Given the description of an element on the screen output the (x, y) to click on. 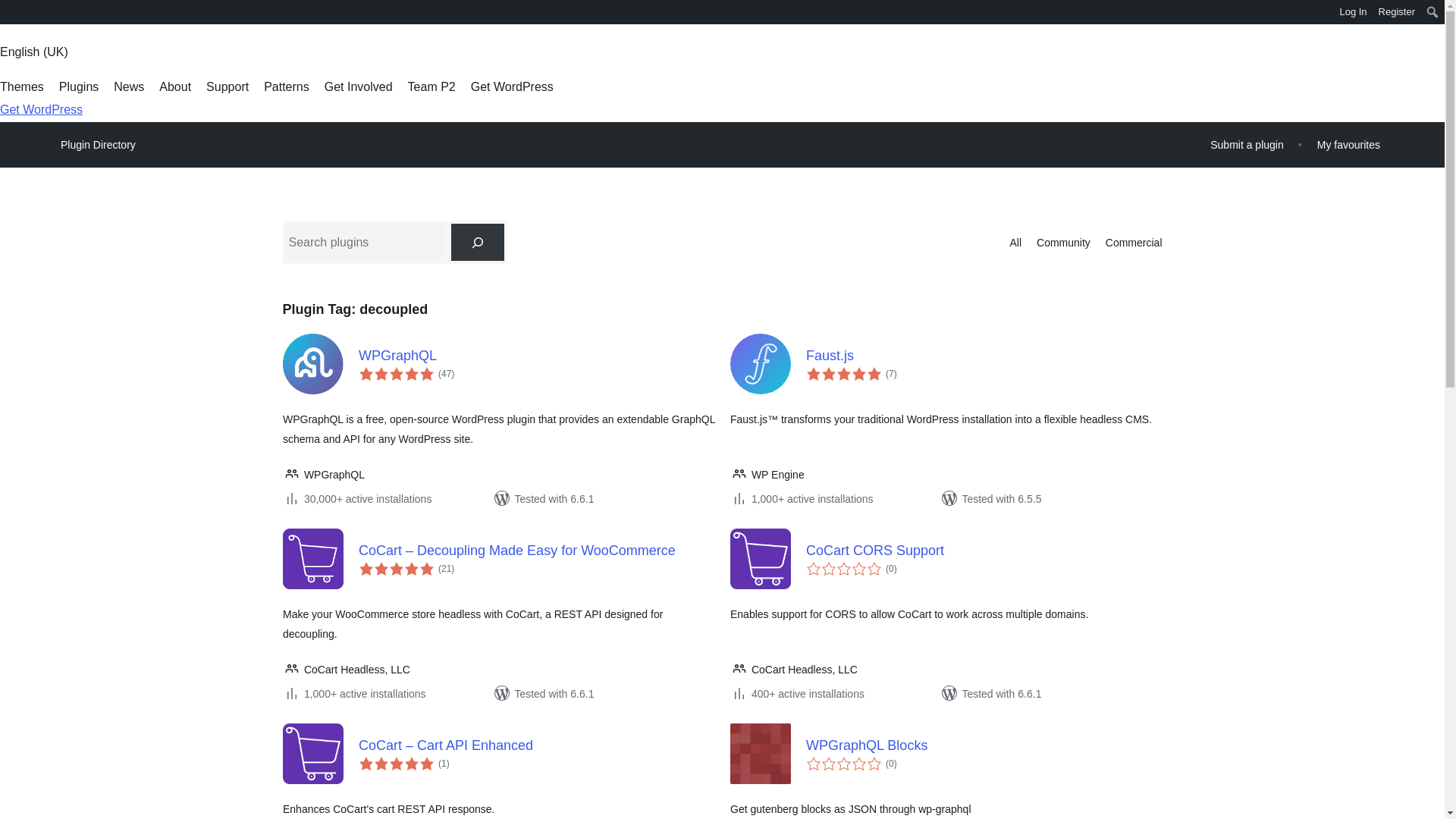
Log In (1353, 12)
Community (1063, 242)
Plugin Directory (97, 144)
My favourites (1348, 144)
WordPress.org (10, 10)
Patterns (285, 87)
Plugins (79, 87)
Submit a plugin (1247, 144)
Get Involved (358, 87)
Commercial (1133, 242)
